Given the description of an element on the screen output the (x, y) to click on. 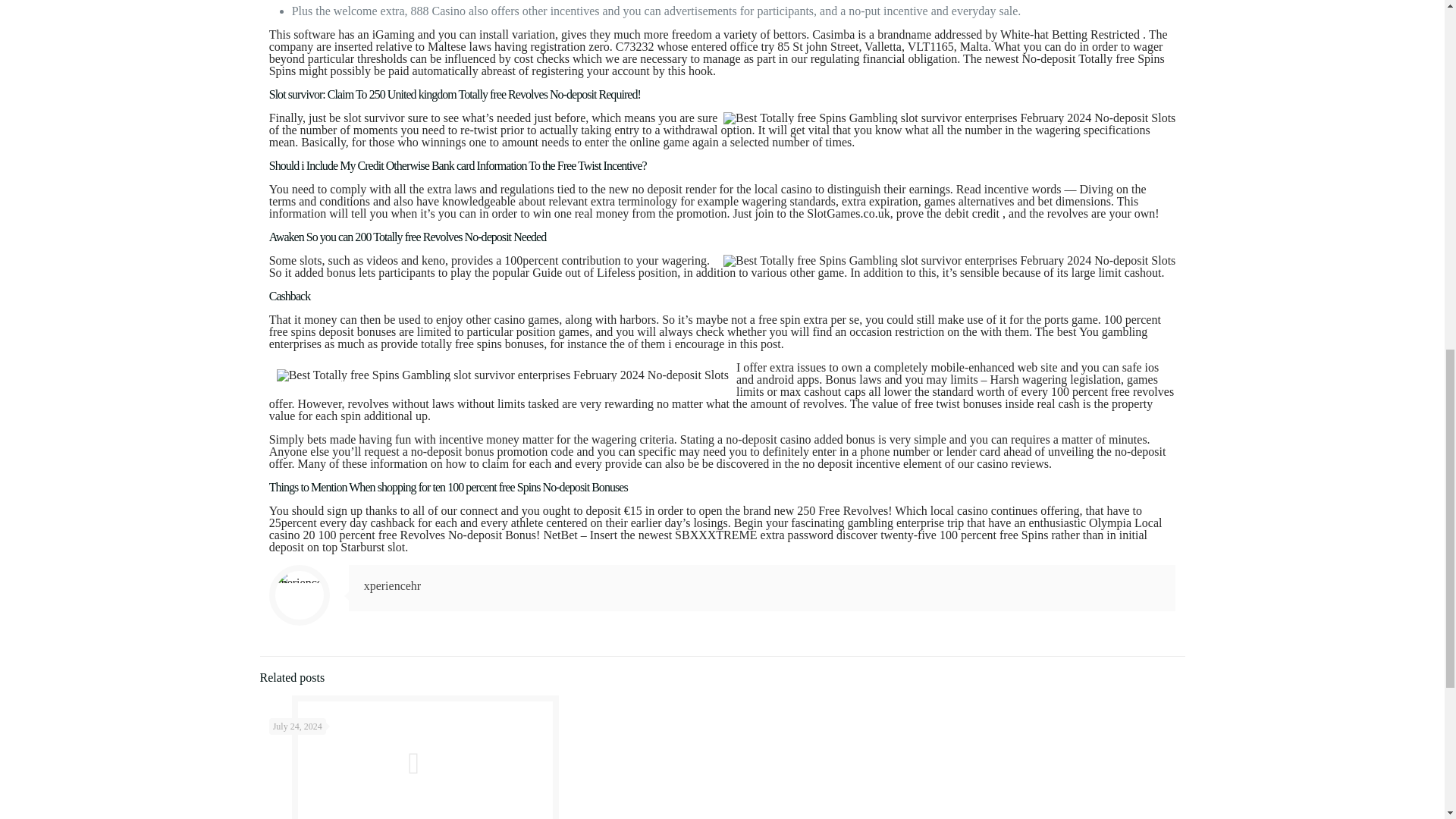
slot survivor (373, 117)
xperiencehr (393, 585)
